Given the description of an element on the screen output the (x, y) to click on. 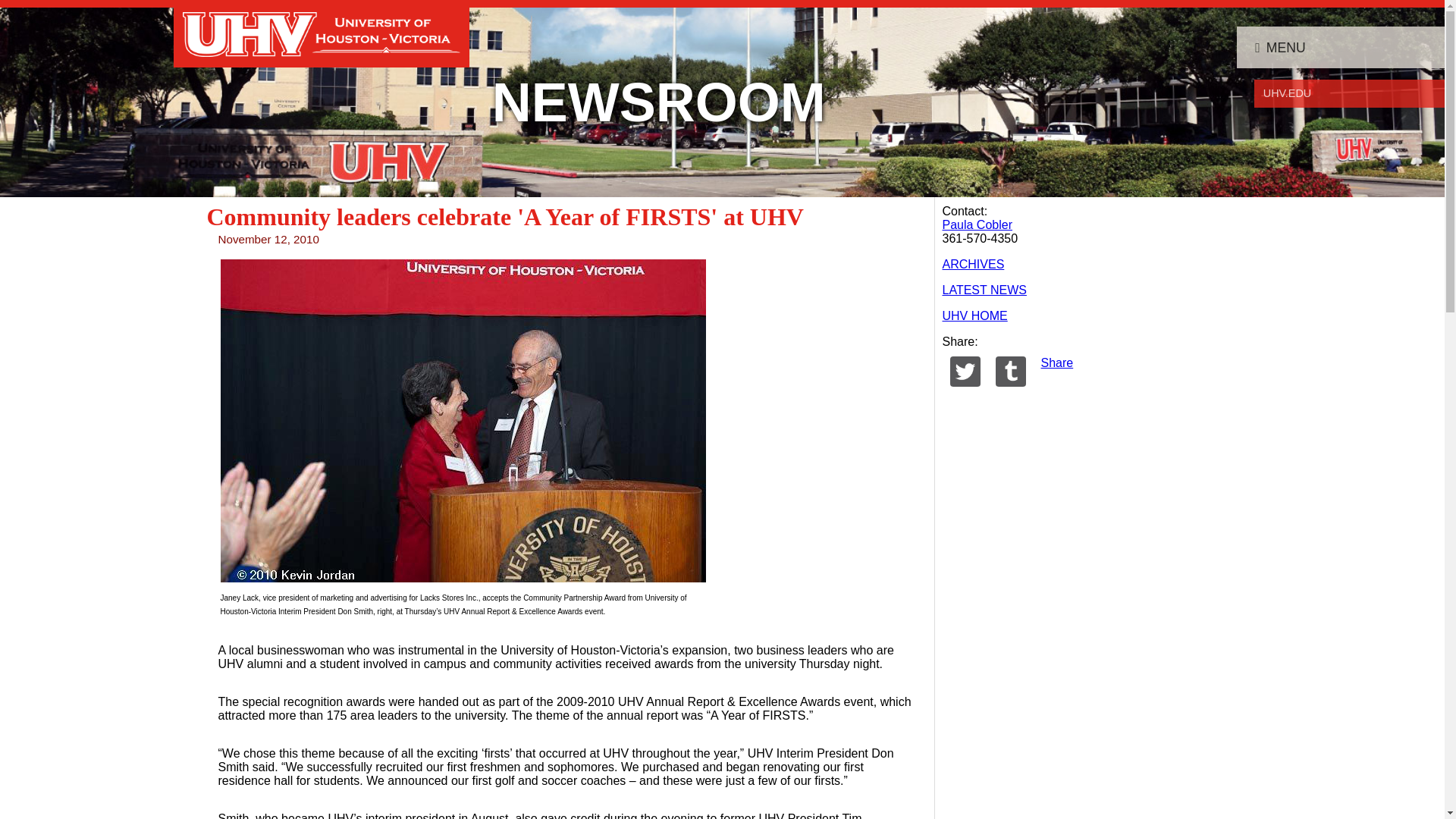
UHV HOME (974, 315)
Home (321, 33)
Share (1057, 362)
Paula Cobler (976, 224)
ARCHIVES (973, 264)
LATEST NEWS (984, 289)
